Given the description of an element on the screen output the (x, y) to click on. 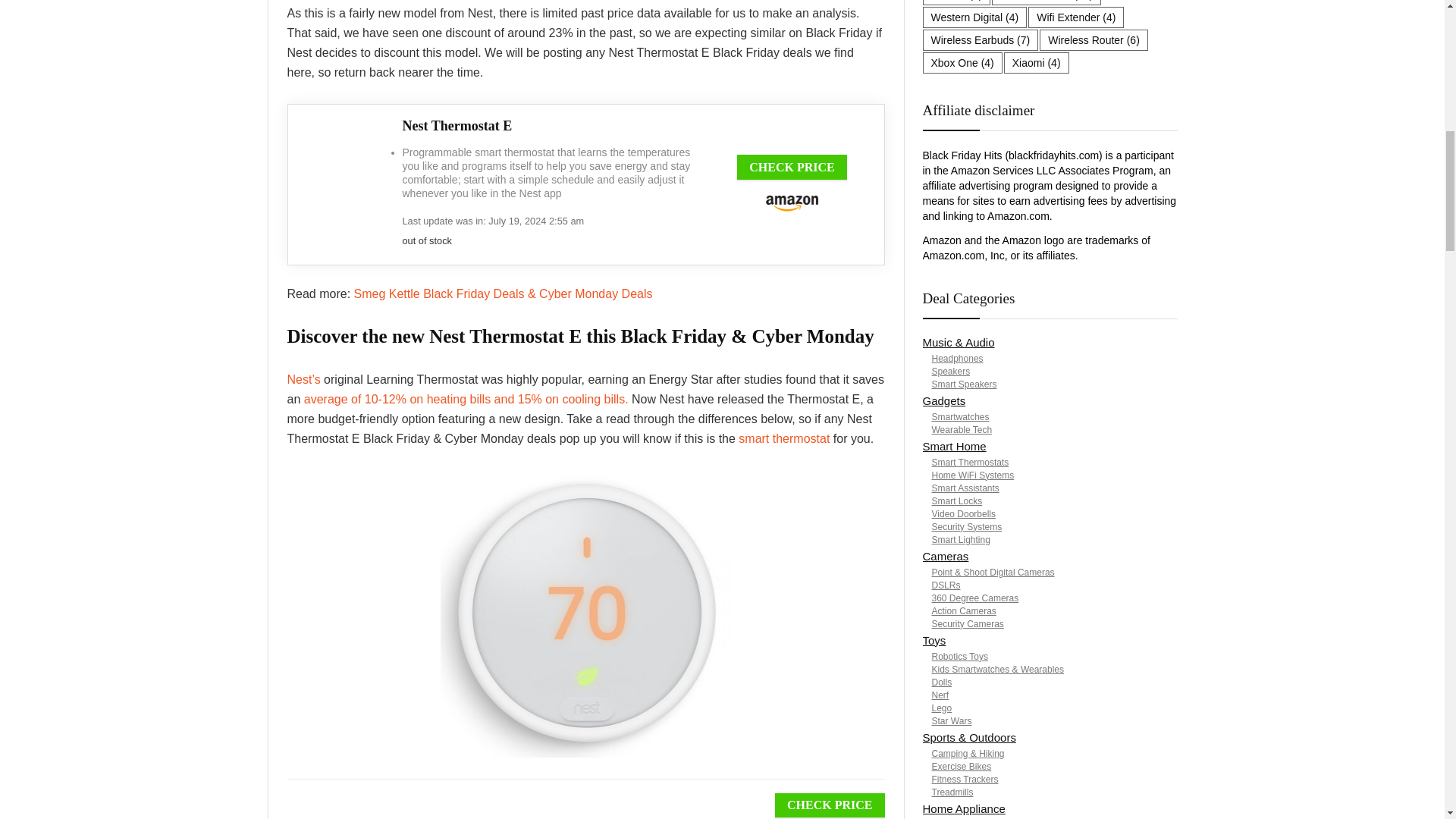
Last update was in: July 19, 2024 2:55 am (550, 240)
